Given the description of an element on the screen output the (x, y) to click on. 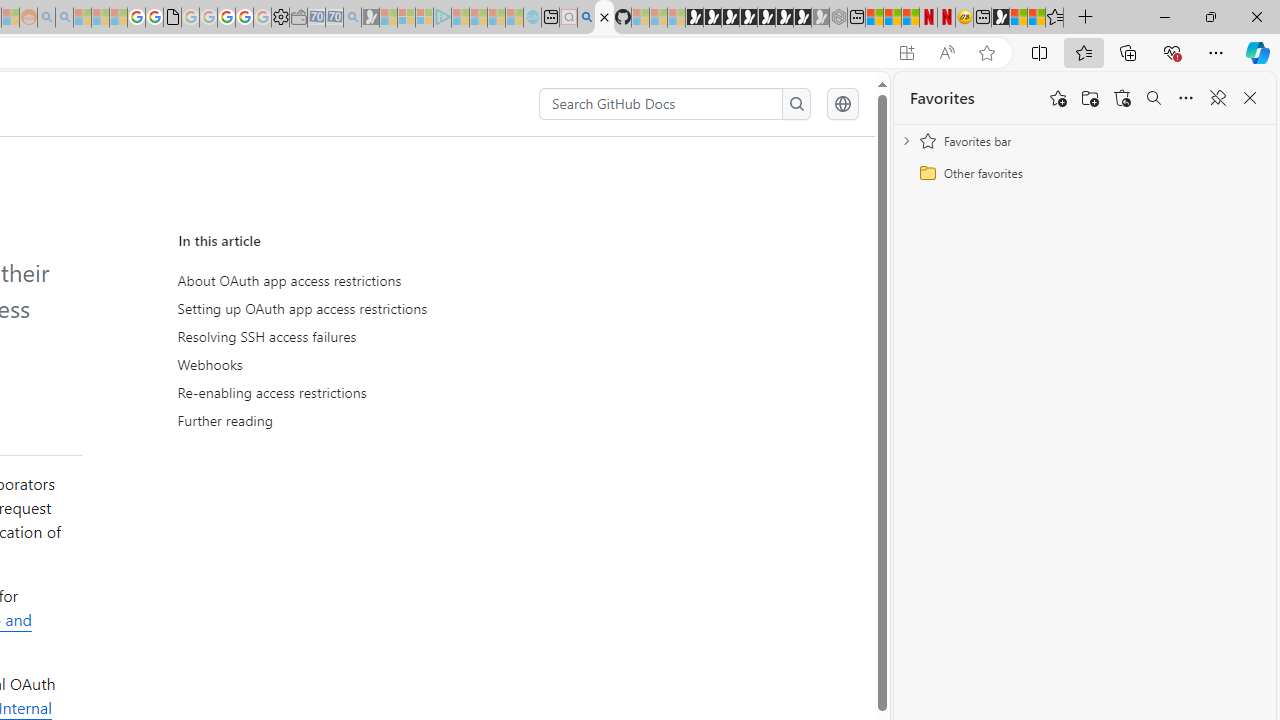
github - Search (586, 17)
Unpin favorites (1217, 98)
Setting up OAuth app access restrictions (362, 309)
Further reading (362, 420)
Webhooks (365, 364)
App available. Install GitHub Docs (906, 53)
